Given the description of an element on the screen output the (x, y) to click on. 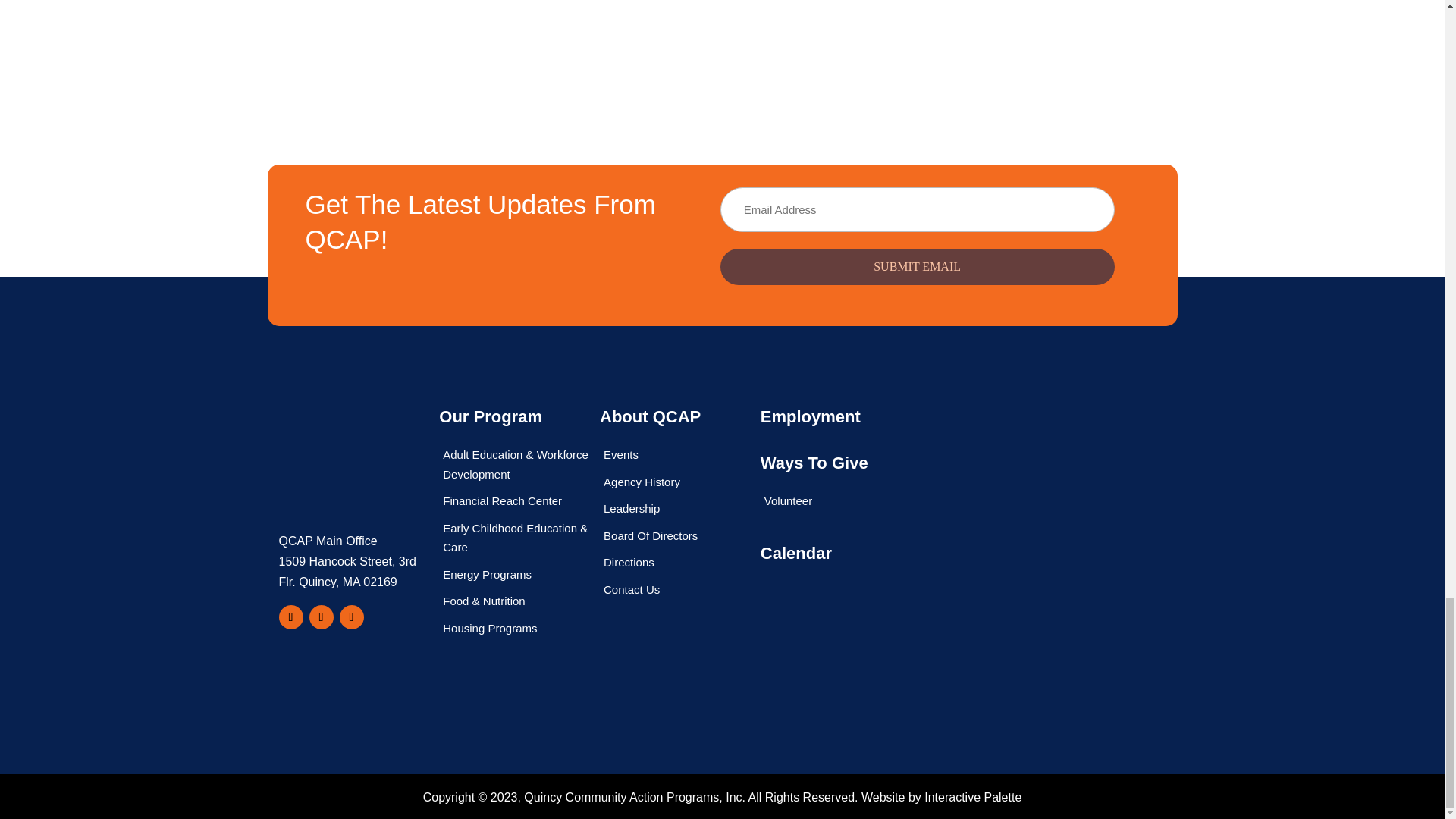
Follow on X (351, 617)
Submit Email (917, 266)
United-Way-New-Logo-1 (997, 469)
AI (997, 640)
Follow on Pinterest (320, 617)
Follow on Facebook (290, 617)
